Given the description of an element on the screen output the (x, y) to click on. 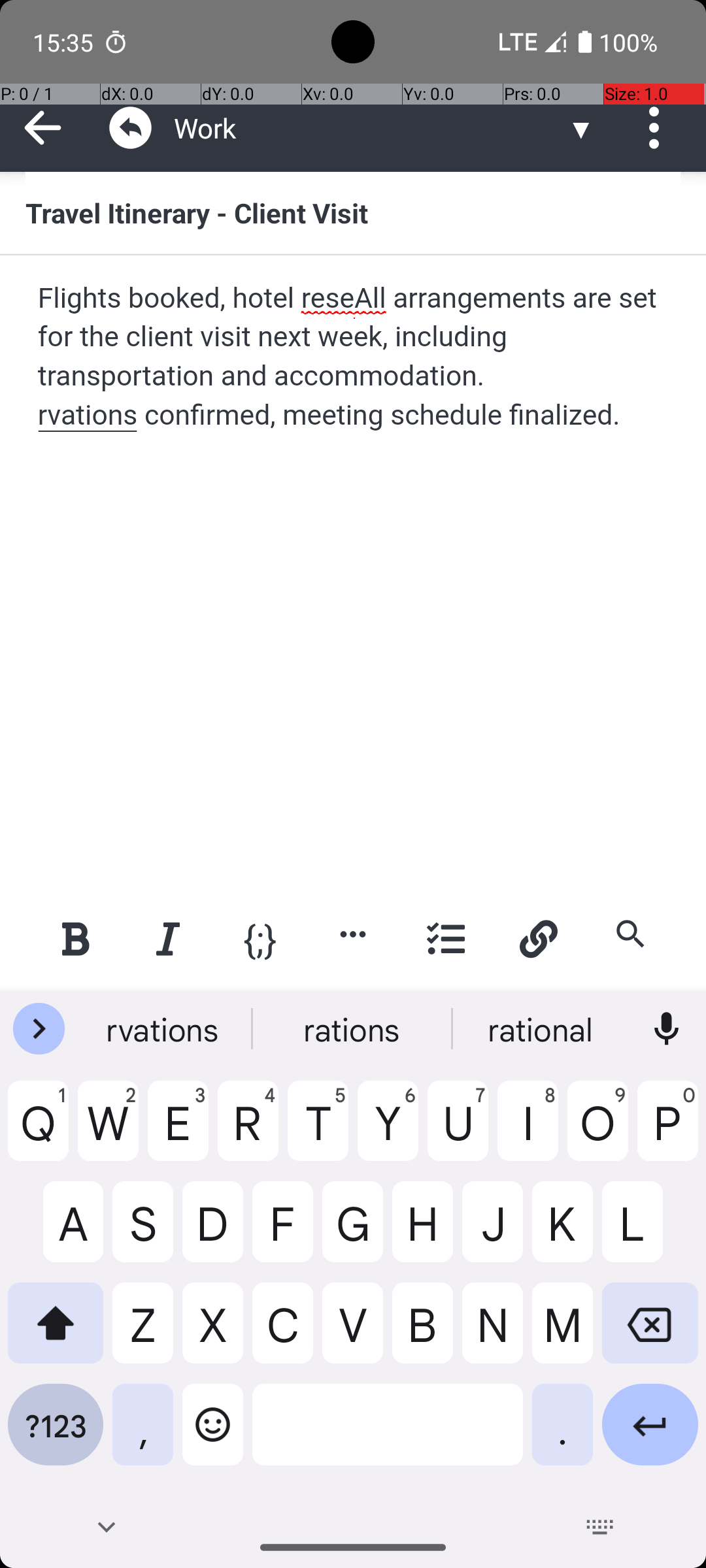
Travel Itinerary - Client Visit Element type: android.widget.EditText (352, 212)
Flights booked, hotel reseAll arrangements are set for the client visit next week, including transportation and accommodation.
rvations confirmed, meeting schedule finalized. Element type: android.widget.EditText (354, 356)
rvations Element type: android.widget.FrameLayout (163, 1028)
rations Element type: android.widget.FrameLayout (352, 1028)
rational Element type: android.widget.FrameLayout (541, 1028)
